Given the description of an element on the screen output the (x, y) to click on. 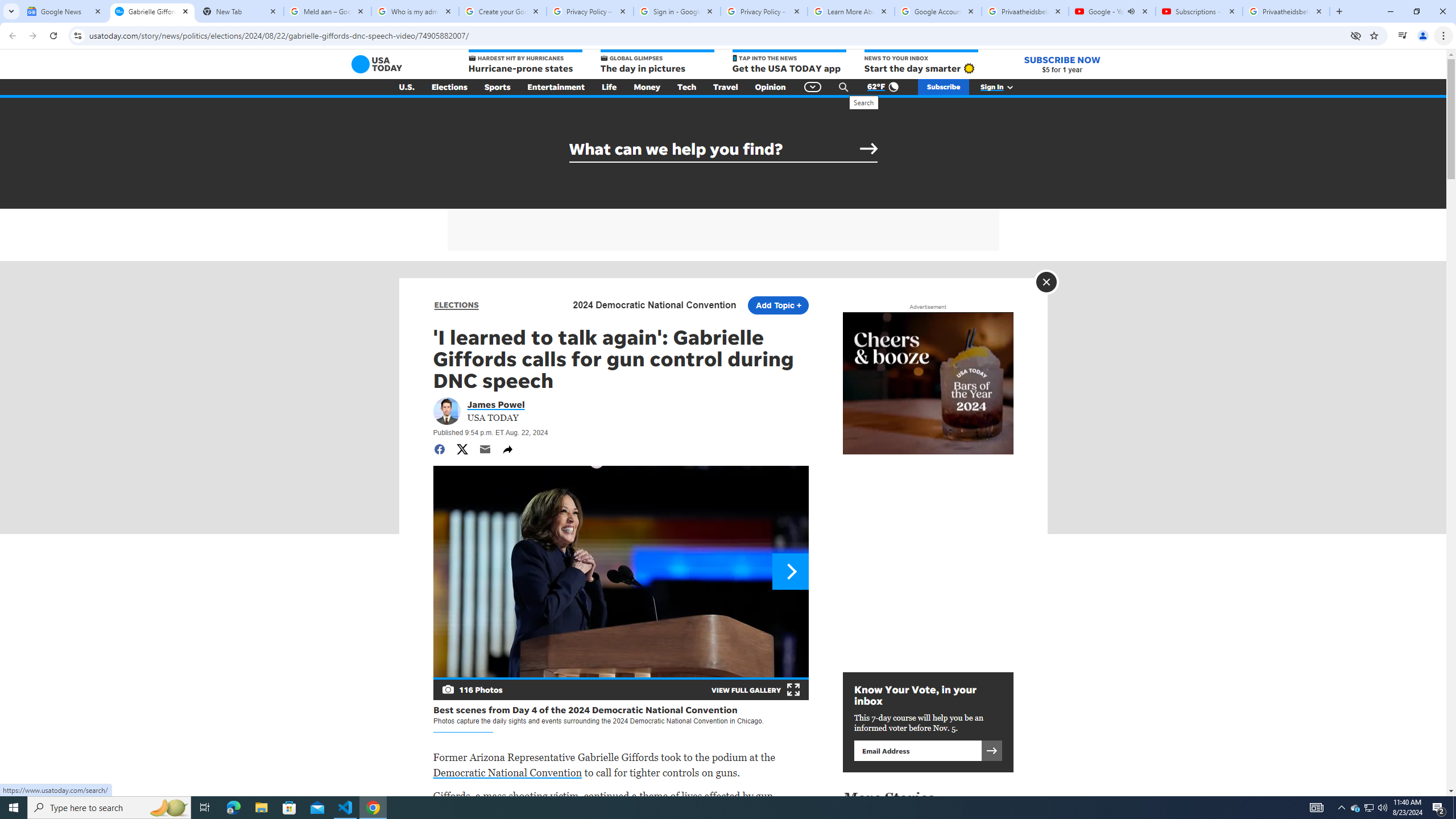
SUBSCRIBE NOW $5 for 1 year (1062, 64)
Search query (723, 148)
Sports (497, 87)
Sign In (1002, 87)
U.S. (406, 87)
Sign in - Google Accounts (676, 11)
Subscribe (943, 87)
Google - YouTube - Audio playing (1111, 11)
Mute tab (1130, 10)
